Given the description of an element on the screen output the (x, y) to click on. 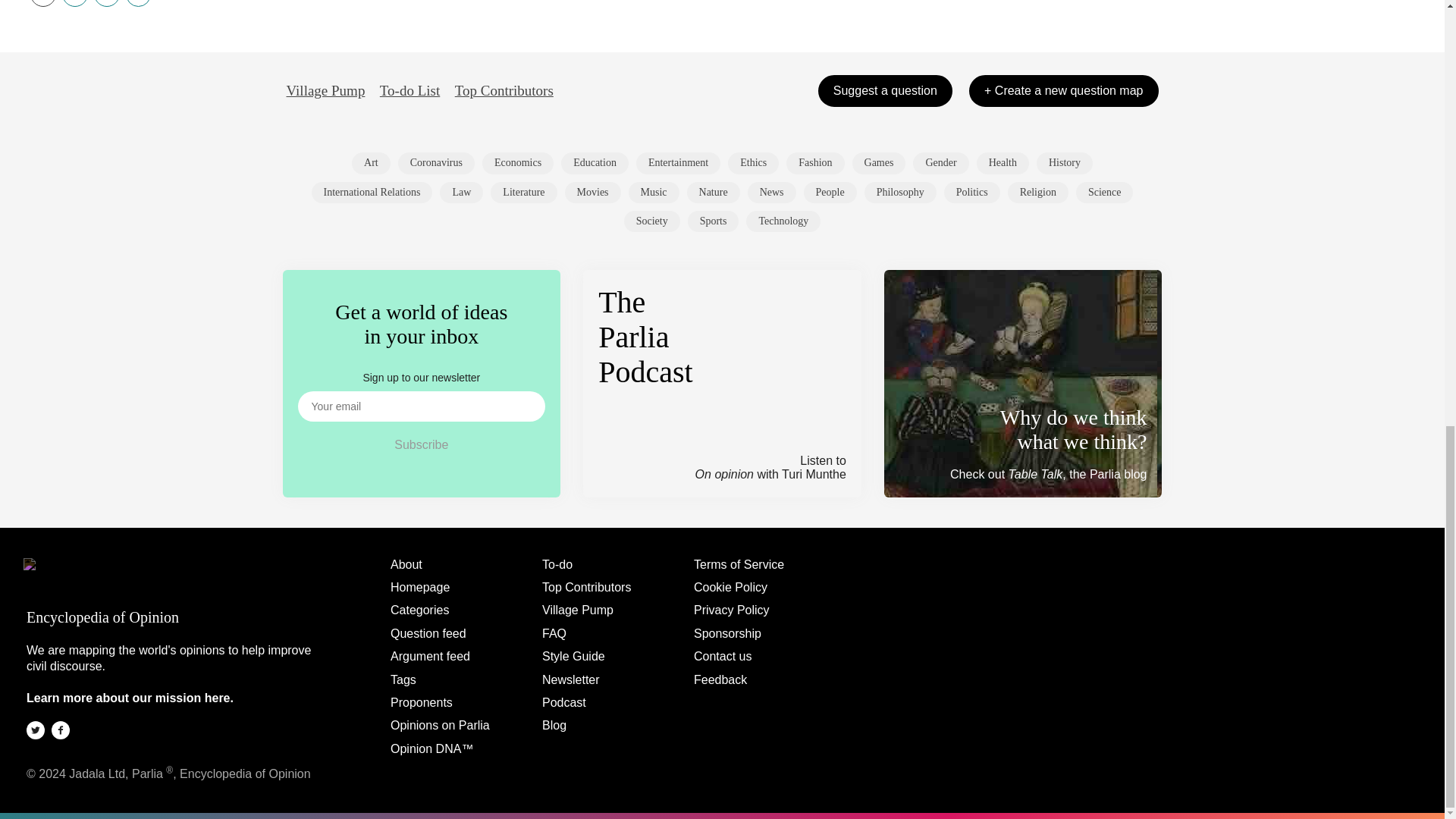
Category item (940, 162)
Art (371, 162)
Category item (594, 162)
Category item (517, 162)
Category item (435, 162)
Category item (815, 162)
Suggest a question (885, 91)
Top Contributors (503, 90)
Category item (1002, 162)
Coronavirus (435, 162)
Category item (371, 192)
Category item (678, 162)
Village Pump (325, 90)
To-do List (409, 90)
Category item (653, 192)
